Given the description of an element on the screen output the (x, y) to click on. 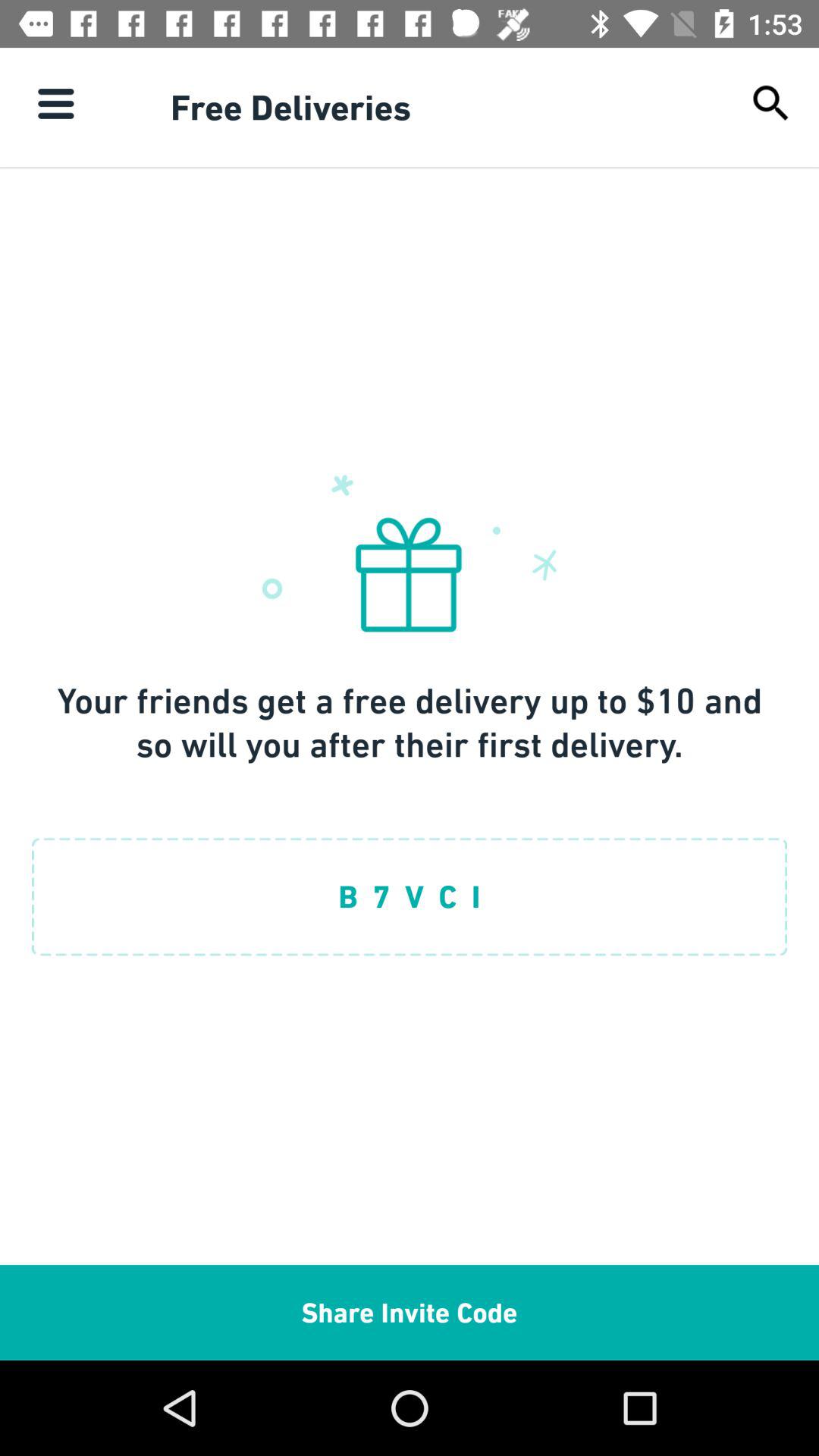
click item to the right of the free deliveries item (771, 103)
